Given the description of an element on the screen output the (x, y) to click on. 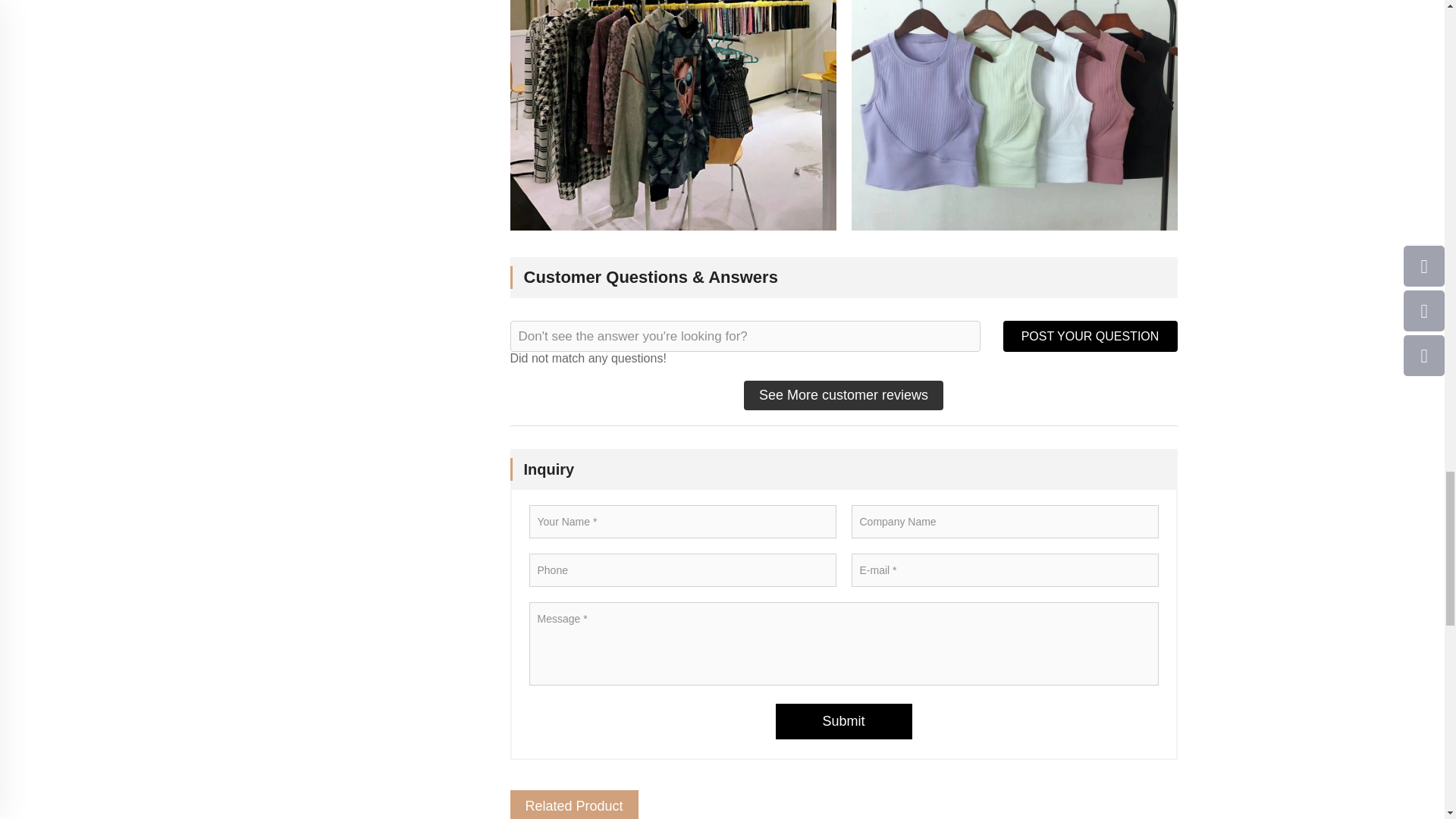
2 (1013, 115)
Submit (842, 721)
4 (672, 115)
